Given the description of an element on the screen output the (x, y) to click on. 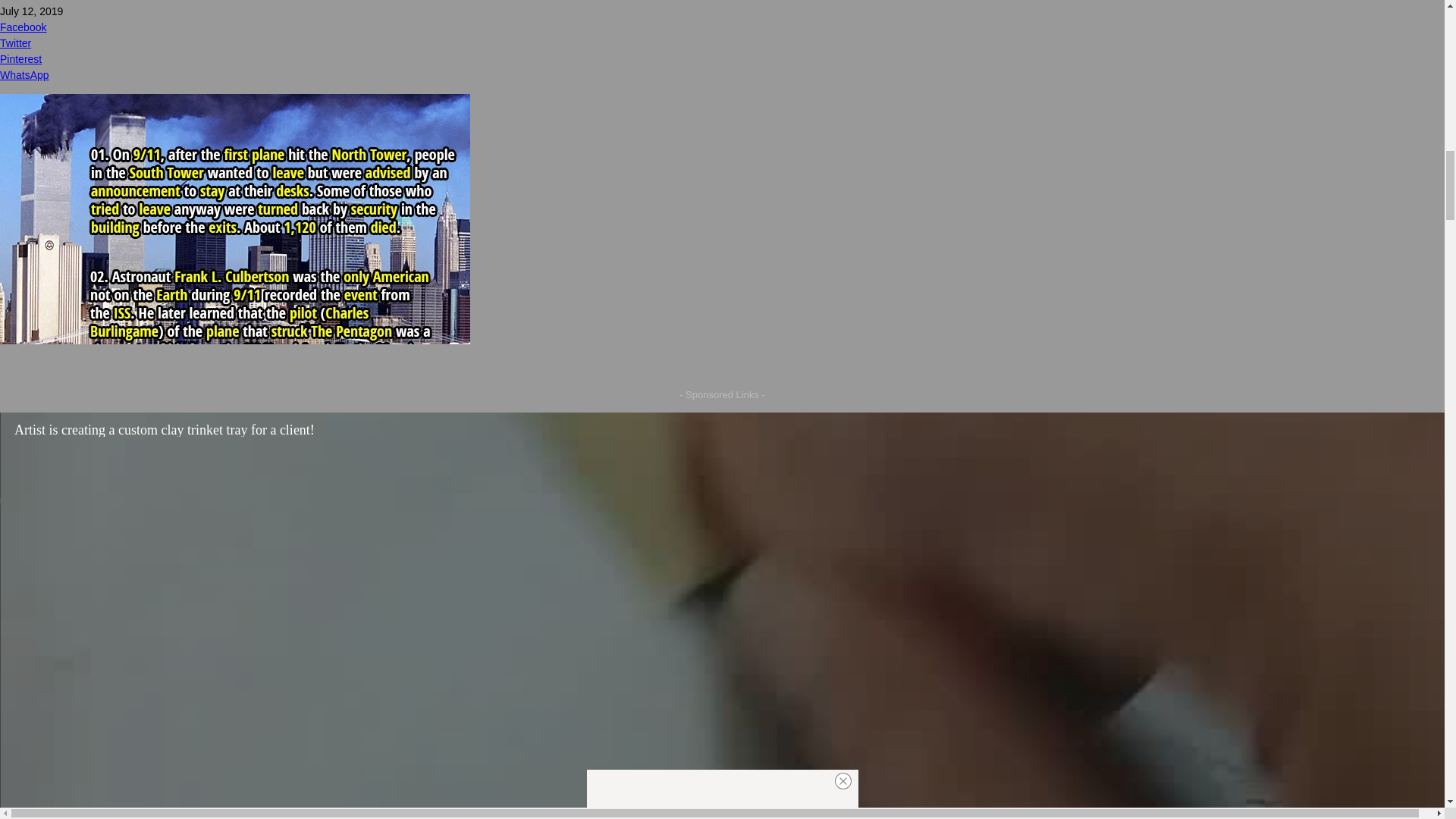
Facebook (722, 27)
